Given the description of an element on the screen output the (x, y) to click on. 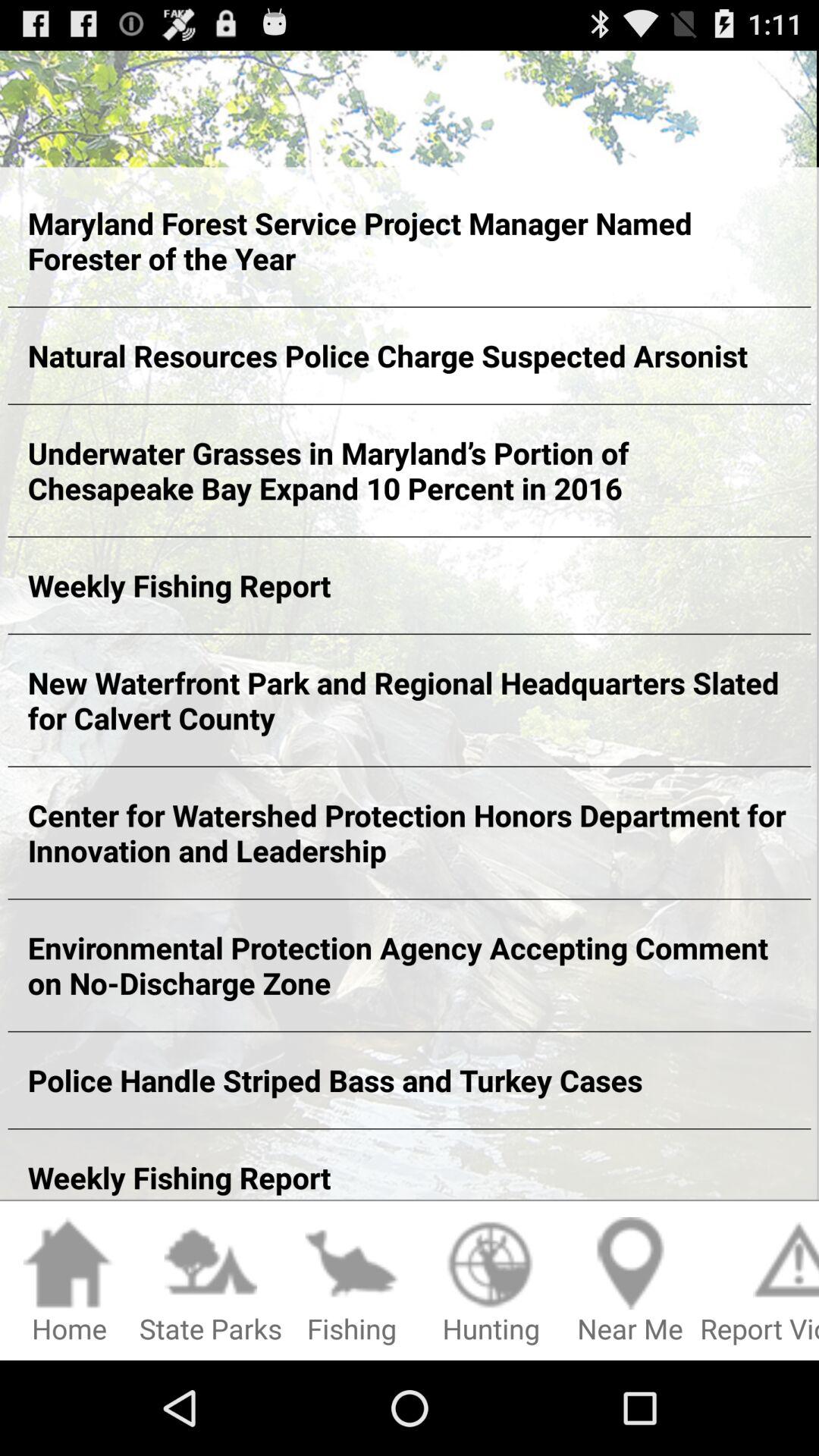
choose the item to the right of the home item (210, 1282)
